Given the description of an element on the screen output the (x, y) to click on. 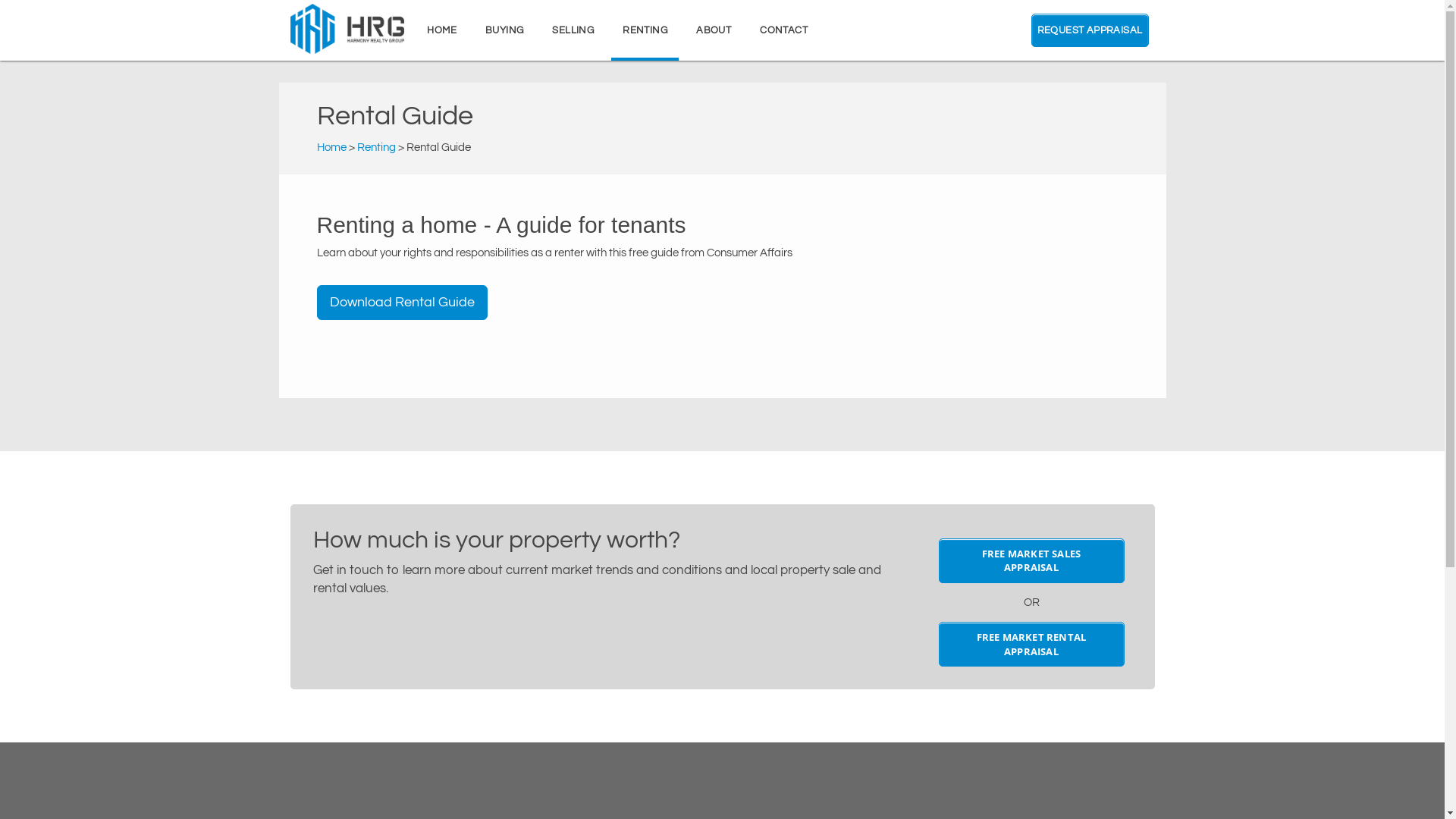
Download Rental Guide Element type: text (401, 302)
BUYING Element type: text (503, 30)
Renting Element type: text (375, 147)
ABOUT Element type: text (713, 30)
REQUEST APPRAISAL Element type: text (1089, 30)
CONTACT Element type: text (783, 30)
SELLING Element type: text (572, 30)
FREE MARKET SALES APPRAISAL Element type: text (1031, 560)
RENTING Element type: text (644, 30)
Home Element type: text (331, 147)
FREE MARKET RENTAL APPRAISAL Element type: text (1031, 643)
HOME Element type: text (441, 30)
